Given the description of an element on the screen output the (x, y) to click on. 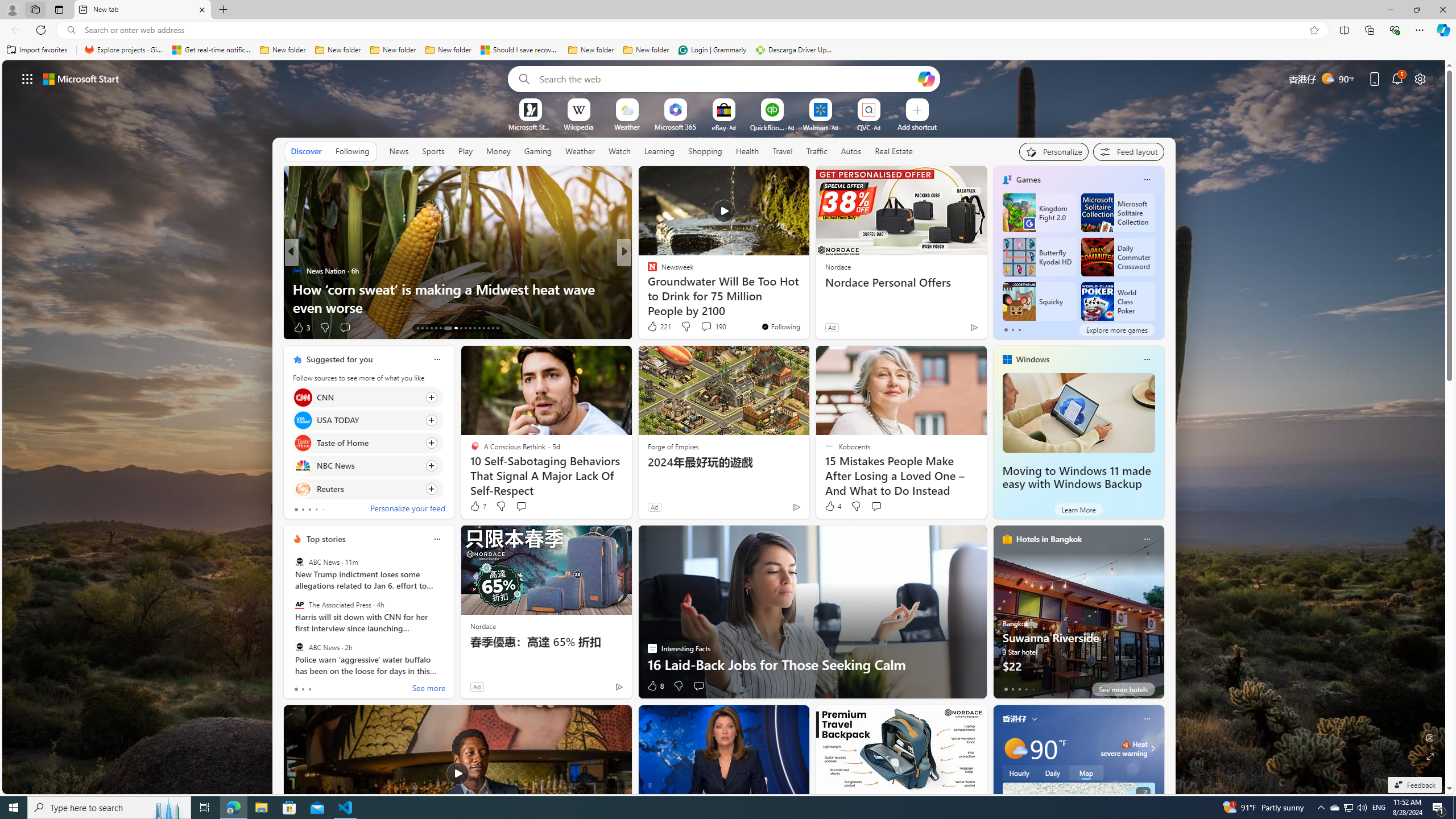
Wikipedia (578, 126)
New folder (646, 49)
Descarga Driver Updater (794, 49)
Discover (306, 151)
AutomationID: tab-26 (483, 328)
AutomationID: tab-18 (440, 328)
78 Like (652, 327)
Learning (658, 151)
Click to follow source USA TODAY (367, 419)
Simply More Time (647, 288)
News (398, 151)
Close tab (202, 9)
Open Copilot (925, 78)
583 Like (654, 327)
